Given the description of an element on the screen output the (x, y) to click on. 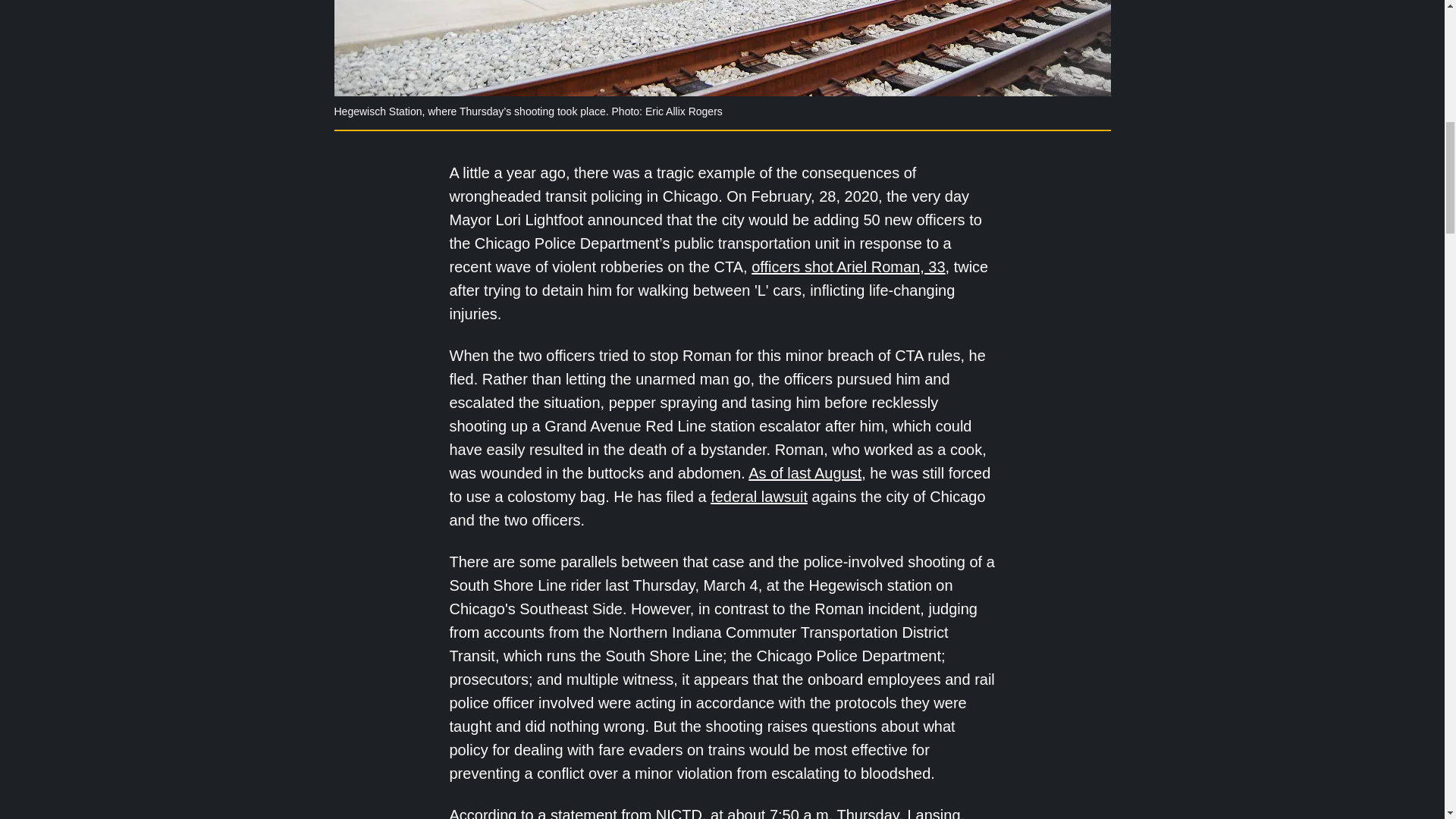
officers shot Ariel Roman, 33 (847, 266)
As of last August (804, 473)
federal lawsuit (759, 496)
